Given the description of an element on the screen output the (x, y) to click on. 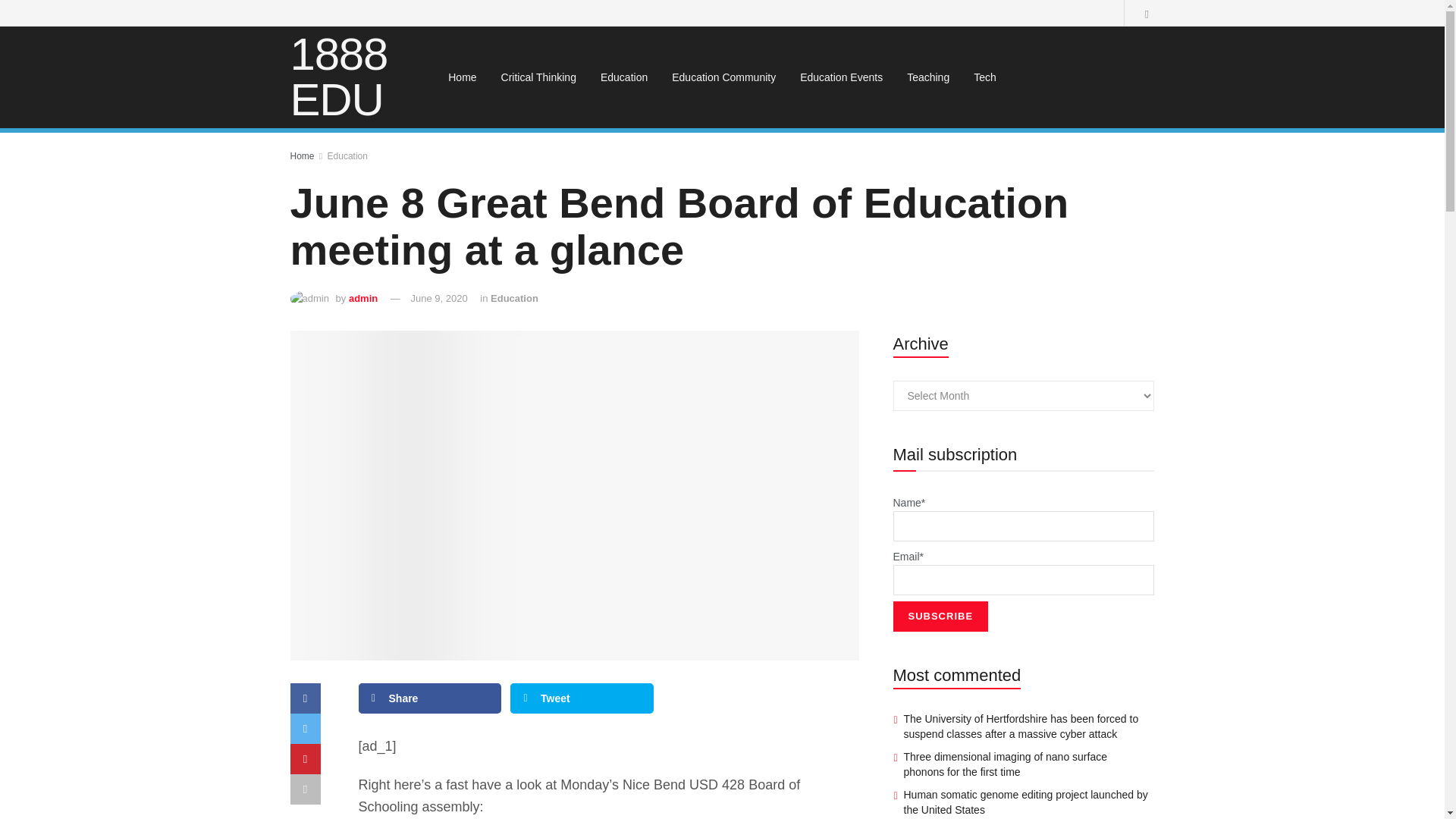
Education Events (841, 76)
June 9, 2020 (438, 297)
Education (514, 297)
1888 EDU (351, 76)
Teaching (927, 76)
Critical Thinking (538, 76)
Home (461, 76)
